Given the description of an element on the screen output the (x, y) to click on. 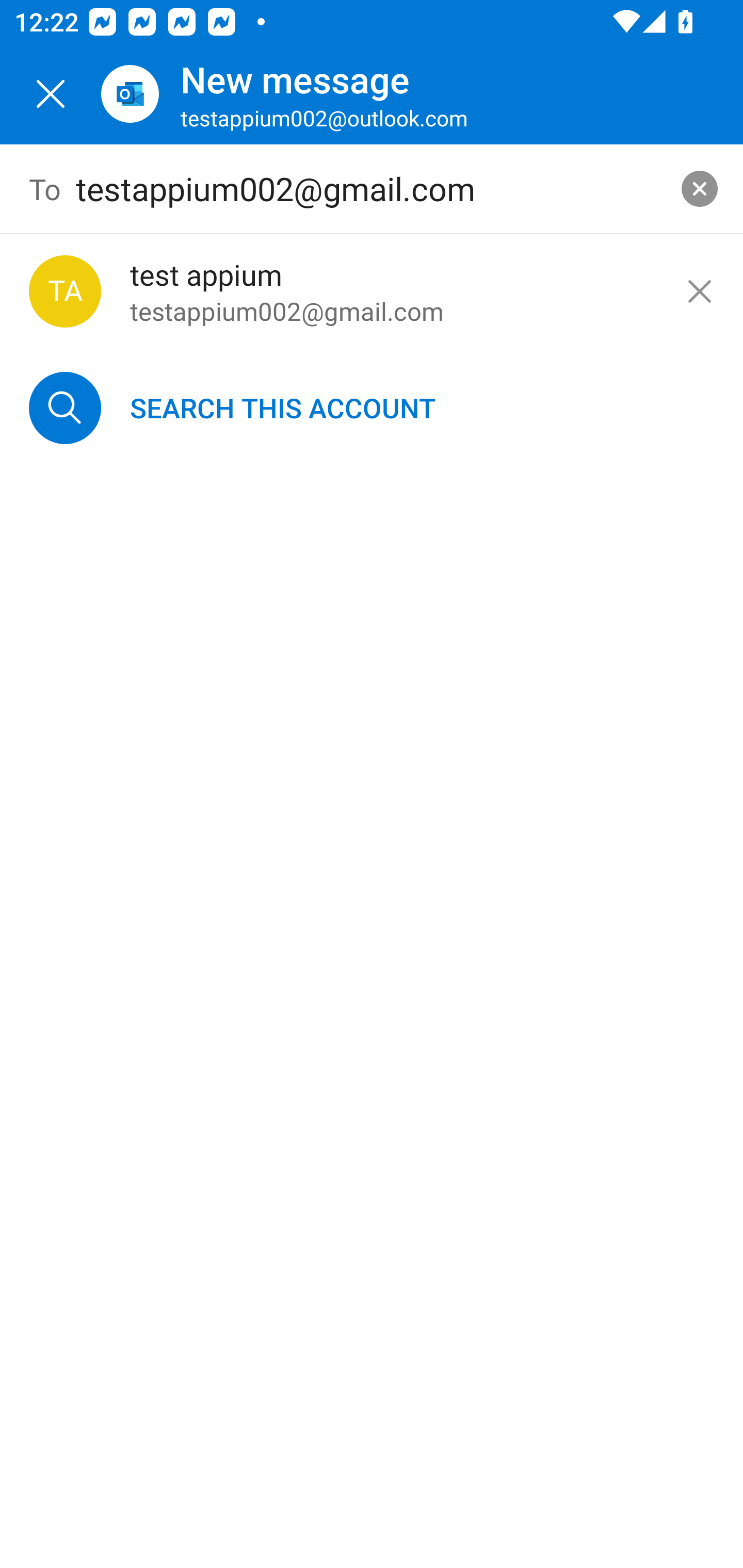
Close (50, 93)
testappium002@gmail.com (371, 188)
clear search (699, 188)
